Given the description of an element on the screen output the (x, y) to click on. 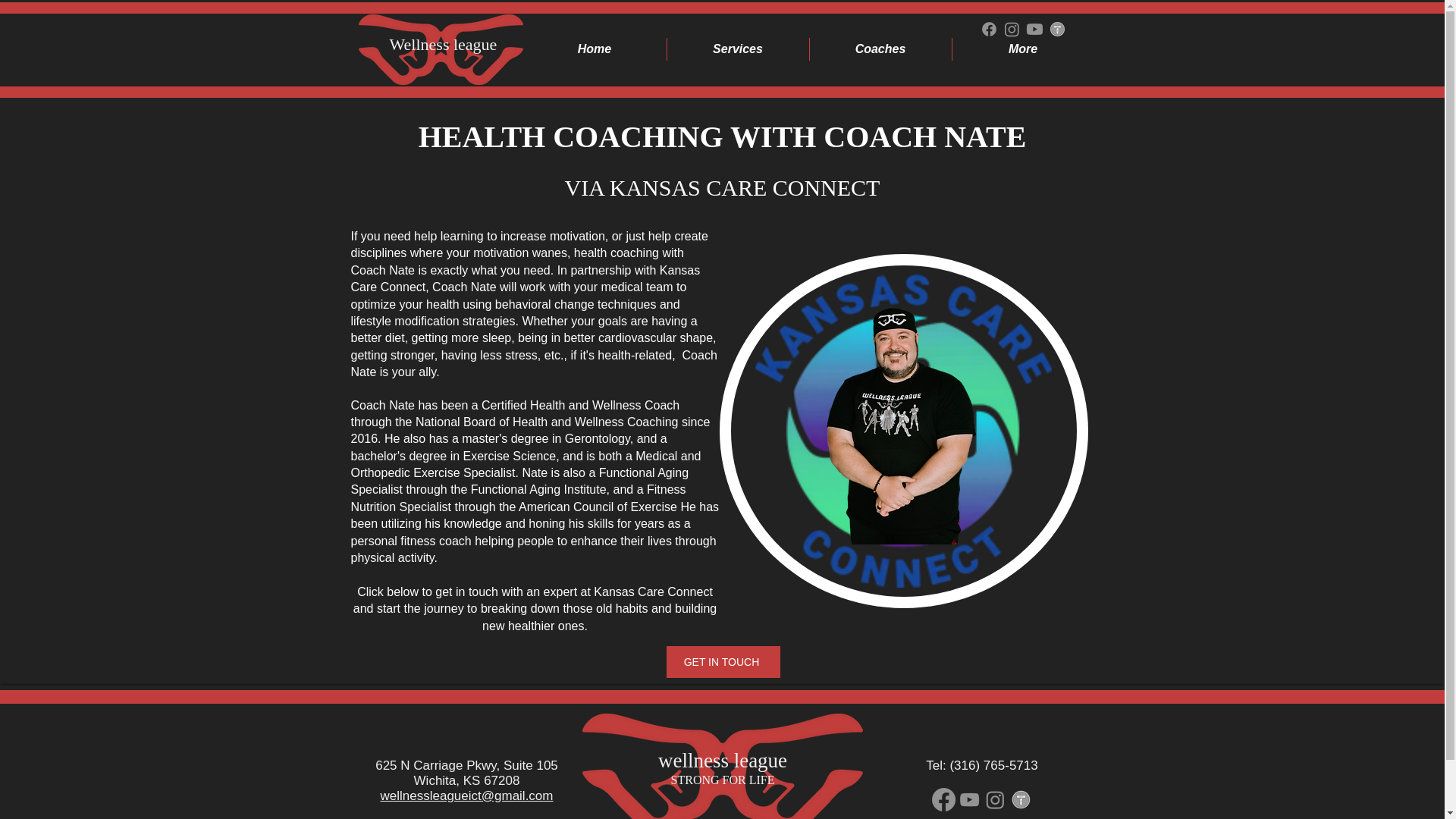
Wellness league (443, 44)
Services (737, 48)
Home (594, 48)
Coaches (880, 48)
wellness league (722, 760)
GET IN TOUCH (721, 662)
